Given the description of an element on the screen output the (x, y) to click on. 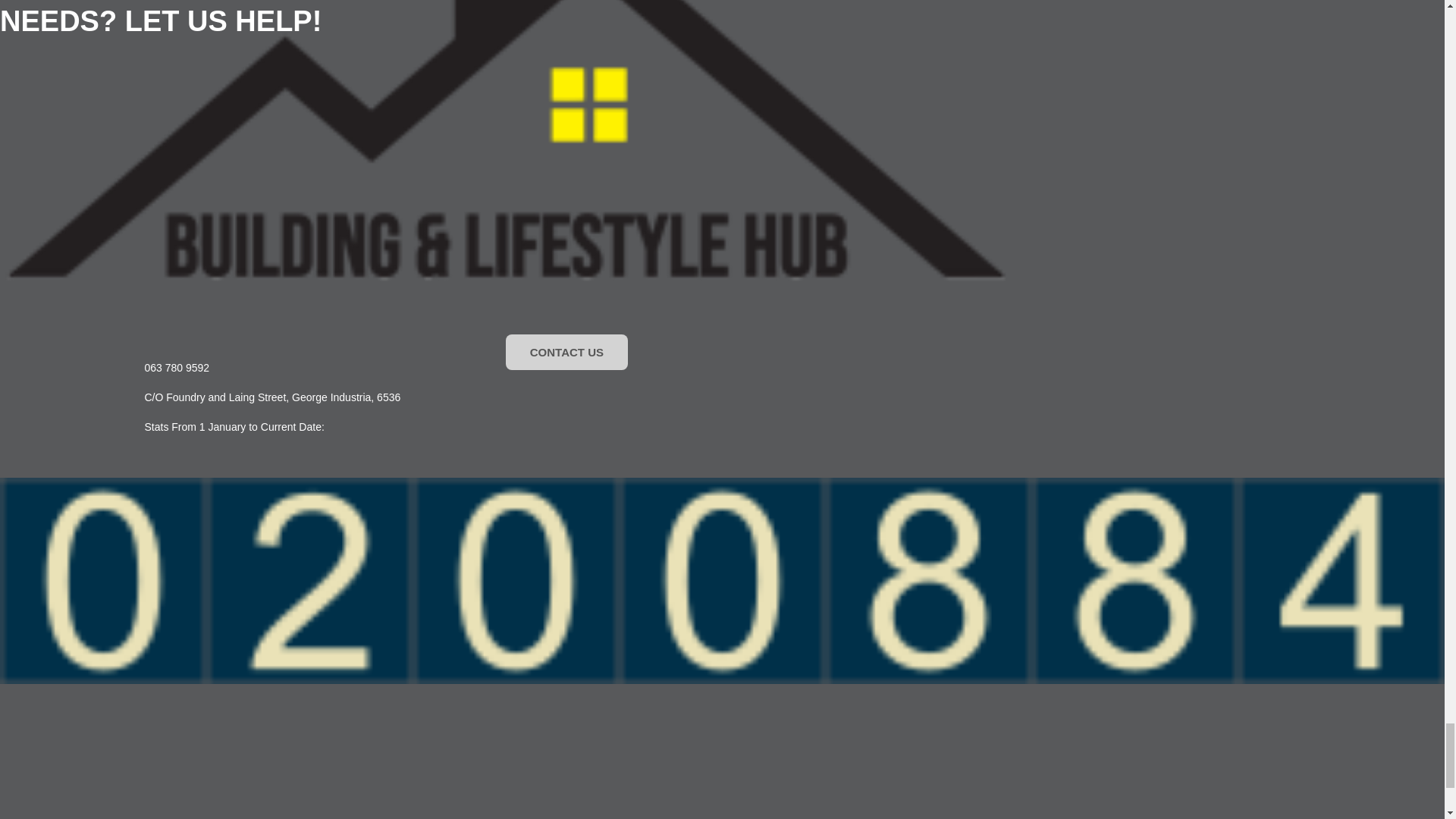
CONTACT US (566, 352)
